Given the description of an element on the screen output the (x, y) to click on. 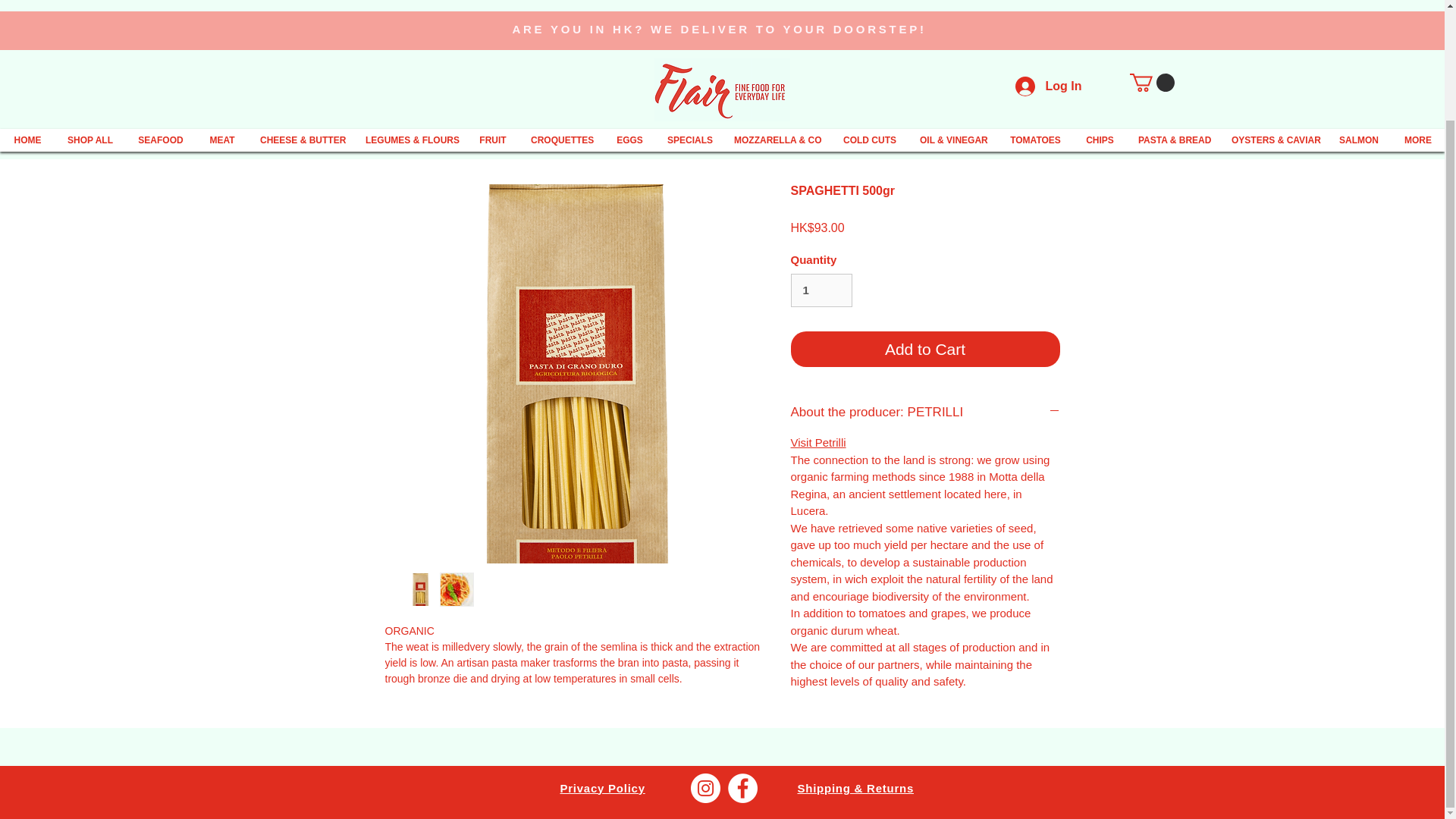
EGGS (629, 14)
FRUIT (492, 14)
TOMATOES (1035, 14)
COLD CUTS (869, 14)
MEAT (221, 14)
1 (820, 290)
CROQUETTES (561, 14)
SPECIALS (688, 14)
HOME (27, 14)
SEAFOOD (160, 14)
SHOP ALL (90, 14)
SALMON (1358, 14)
CHIPS (1099, 14)
